Given the description of an element on the screen output the (x, y) to click on. 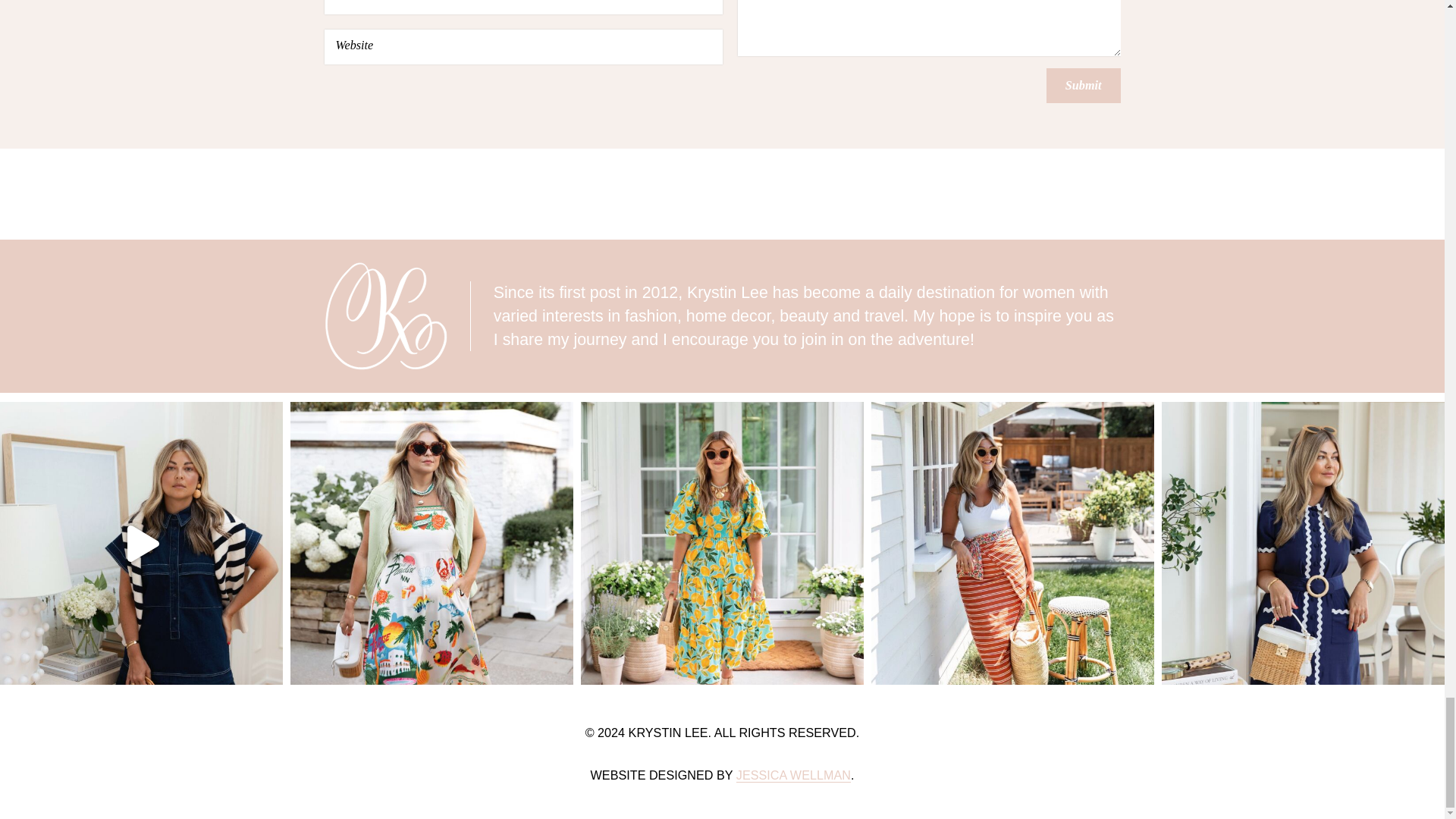
Submit (1083, 85)
